Given the description of an element on the screen output the (x, y) to click on. 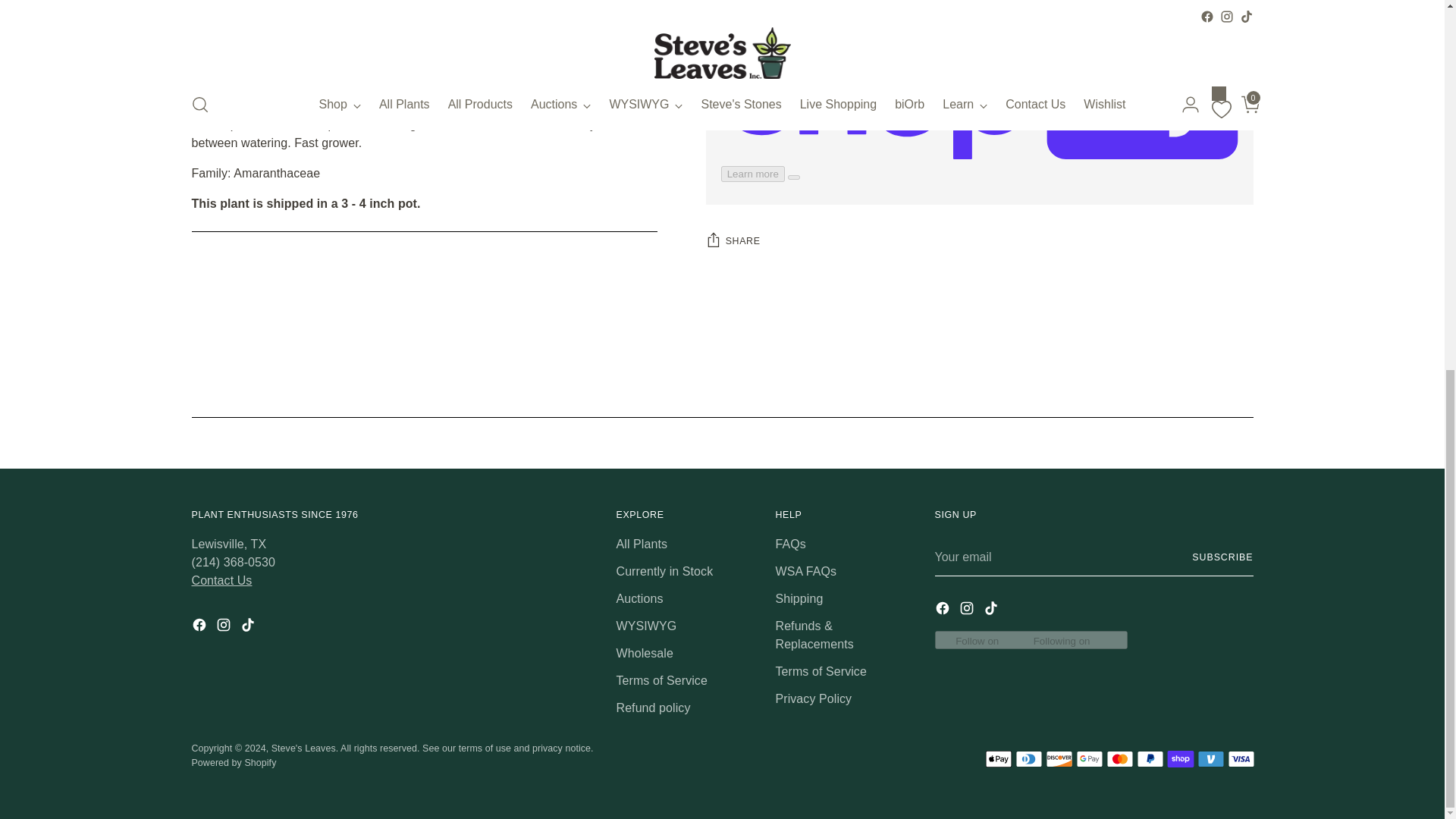
Steve's Leaves on Facebook (199, 627)
Steve's Leaves on Tiktok (248, 627)
Steve's Leaves on Facebook (943, 610)
Steve's Leaves on Tiktok (991, 610)
Steve's Leaves on Instagram (223, 627)
Steve's Leaves on Instagram (967, 610)
Contact Us (220, 580)
